Given the description of an element on the screen output the (x, y) to click on. 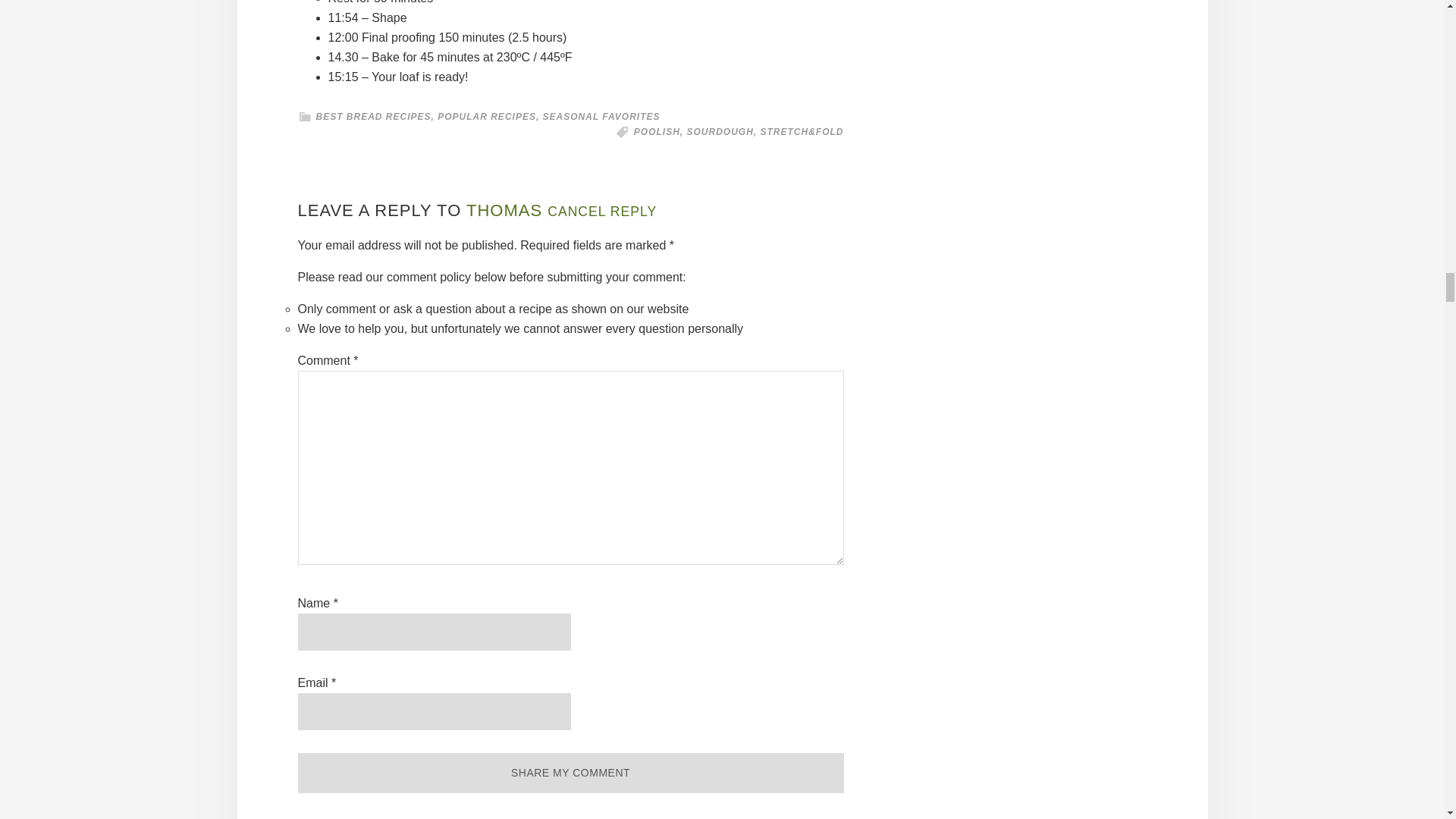
Share My Comment (570, 772)
